Given the description of an element on the screen output the (x, y) to click on. 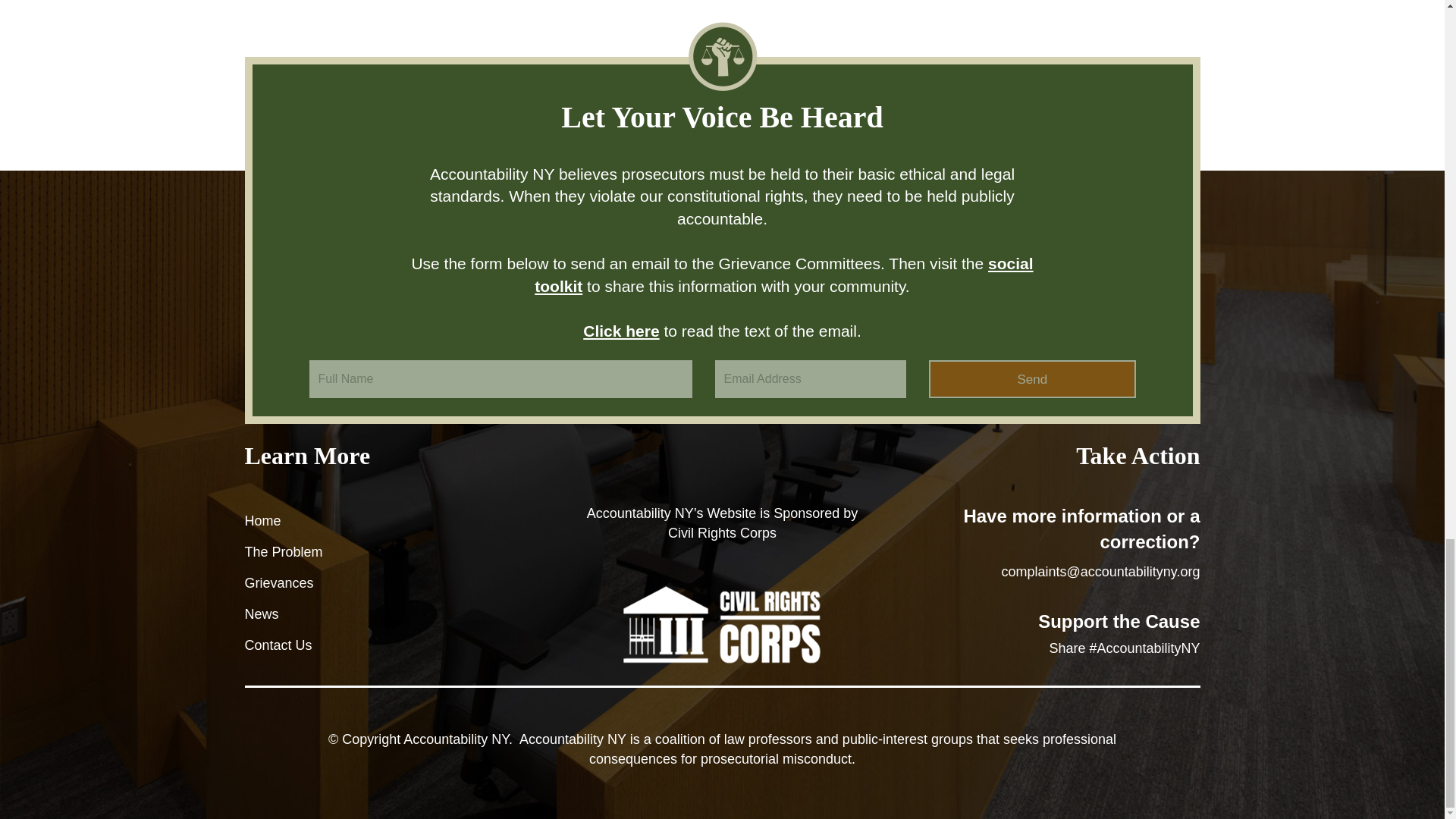
footer-logo (722, 624)
